Given the description of an element on the screen output the (x, y) to click on. 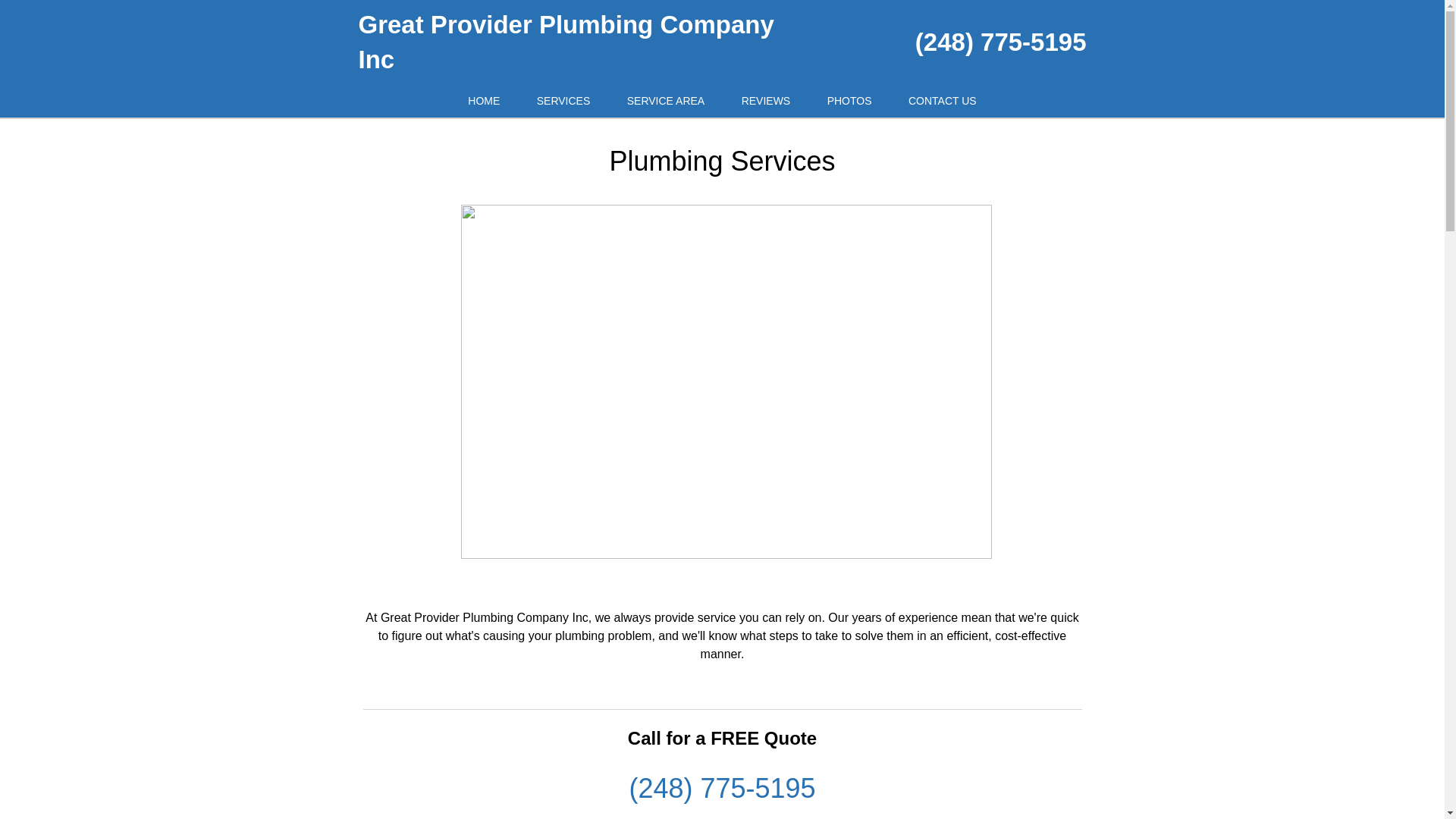
REVIEWS (766, 101)
PHOTOS (849, 101)
SERVICE AREA (665, 101)
SERVICES (563, 101)
CONTACT US (941, 101)
HOME (483, 101)
